Given the description of an element on the screen output the (x, y) to click on. 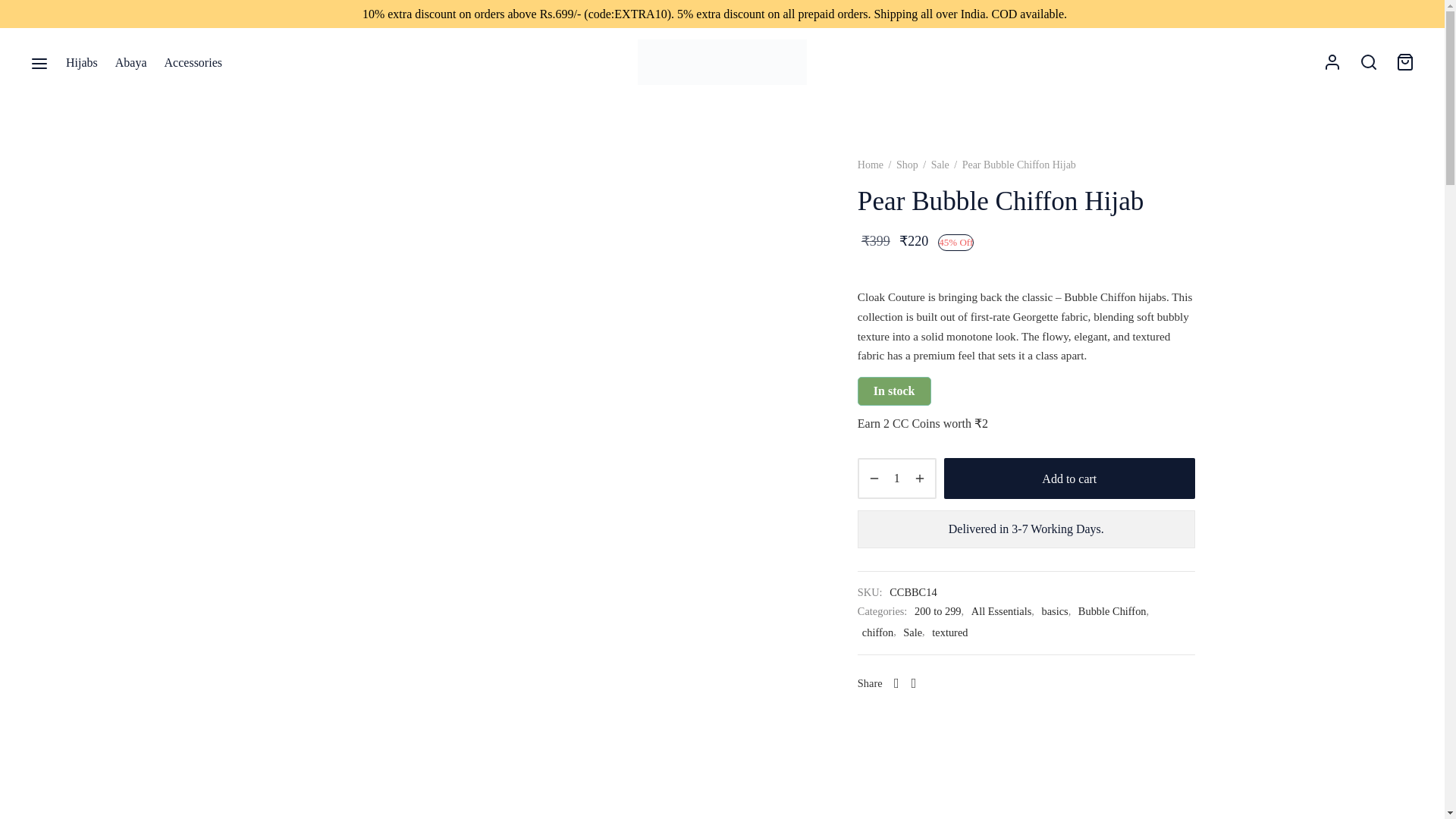
Hijabs (81, 62)
Qty (896, 478)
1 (896, 478)
Cart (1404, 62)
